Given the description of an element on the screen output the (x, y) to click on. 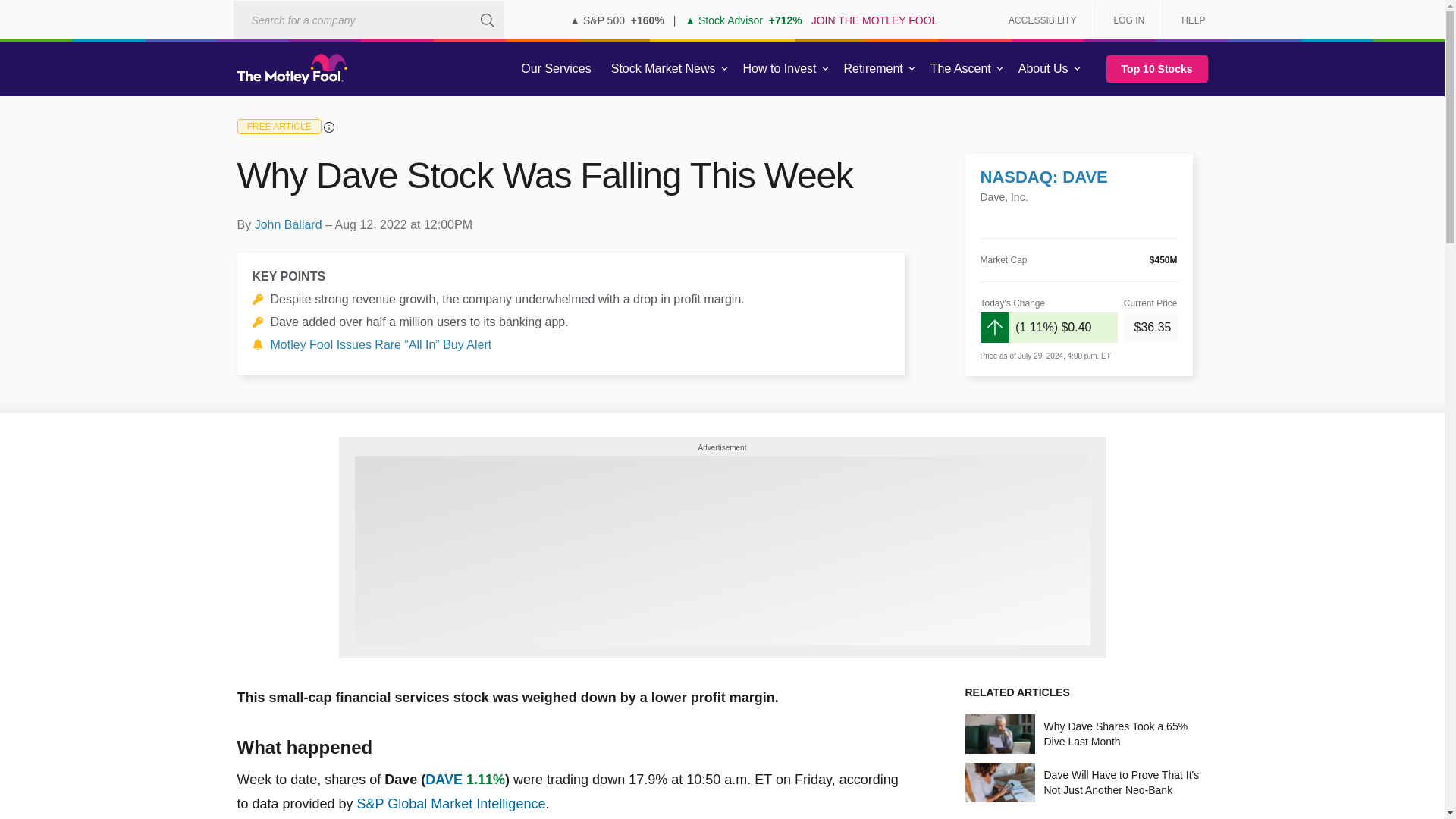
ACCESSIBILITY (1042, 19)
LOG IN (1128, 19)
How to Invest (779, 68)
Our Services (555, 68)
HELP (1187, 19)
Stock Market News (662, 68)
